Given the description of an element on the screen output the (x, y) to click on. 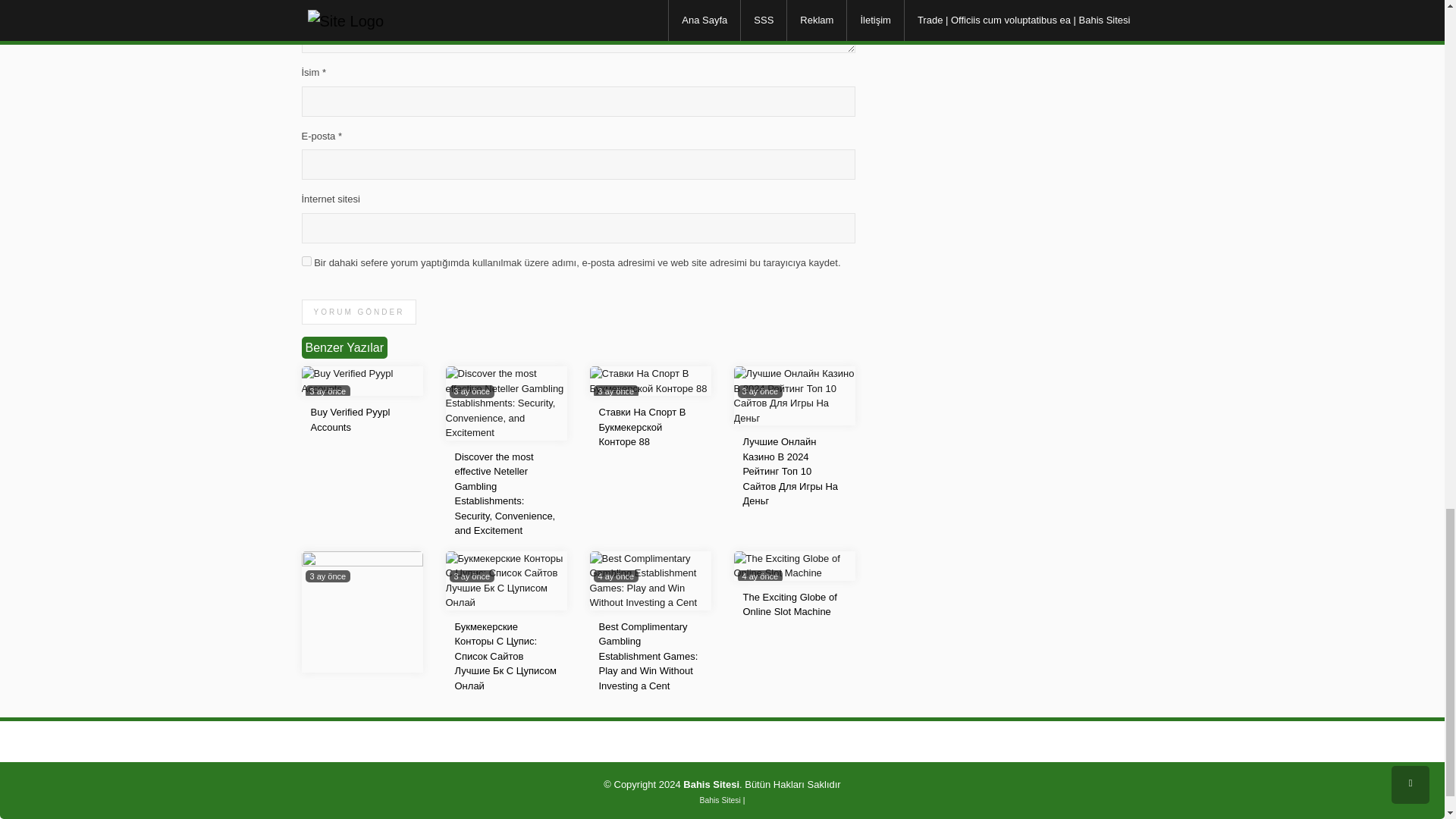
Buy Verified Pyypl Accounts (350, 419)
yes (306, 261)
The Exciting Globe of Online Slot Machine (794, 564)
The Exciting Globe of Online Slot Machine (789, 604)
Buy Verified Pyypl Accounts (362, 379)
